Given the description of an element on the screen output the (x, y) to click on. 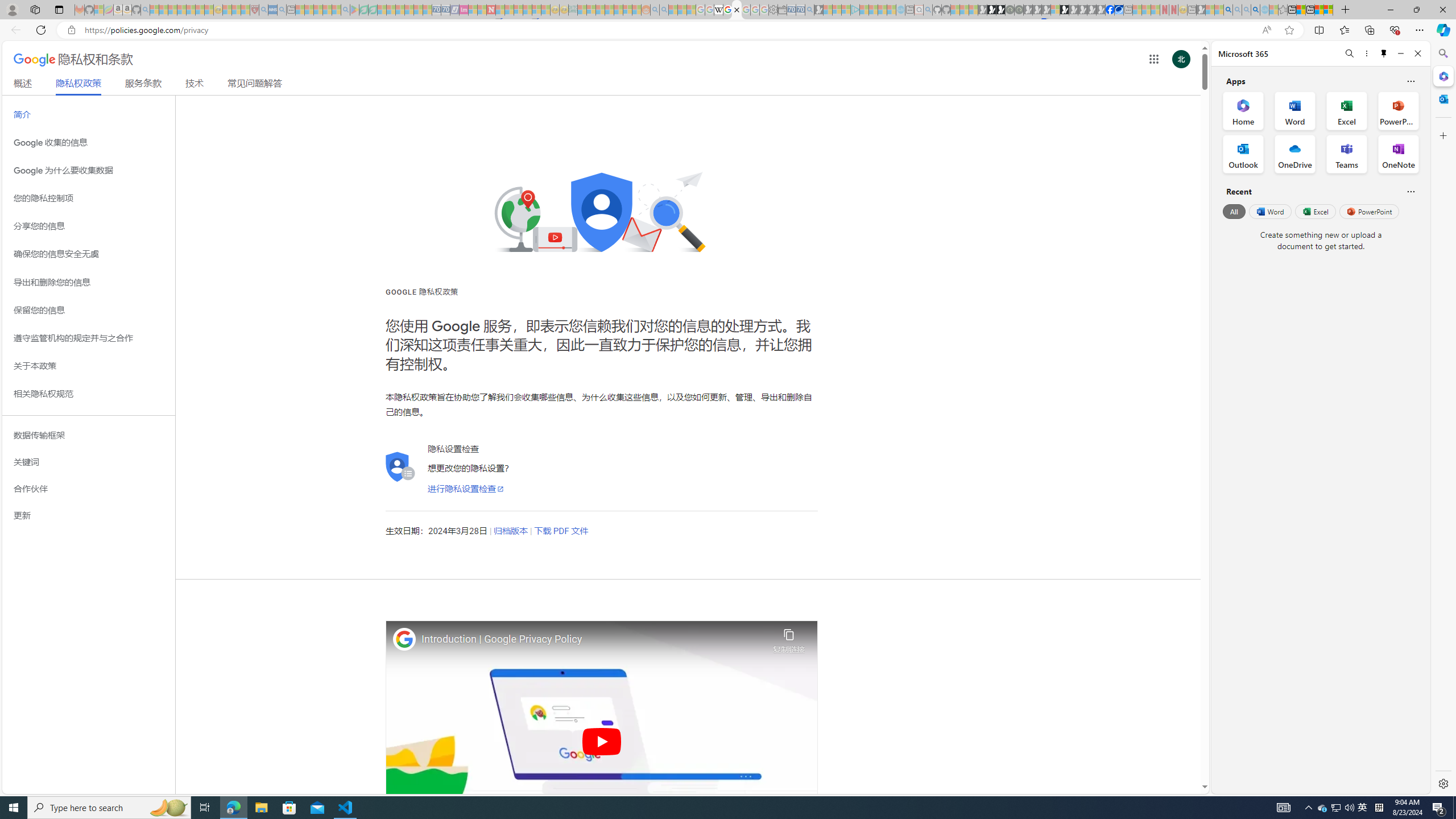
Teams Office App (1346, 154)
OneDrive Office App (1295, 154)
